Given the description of an element on the screen output the (x, y) to click on. 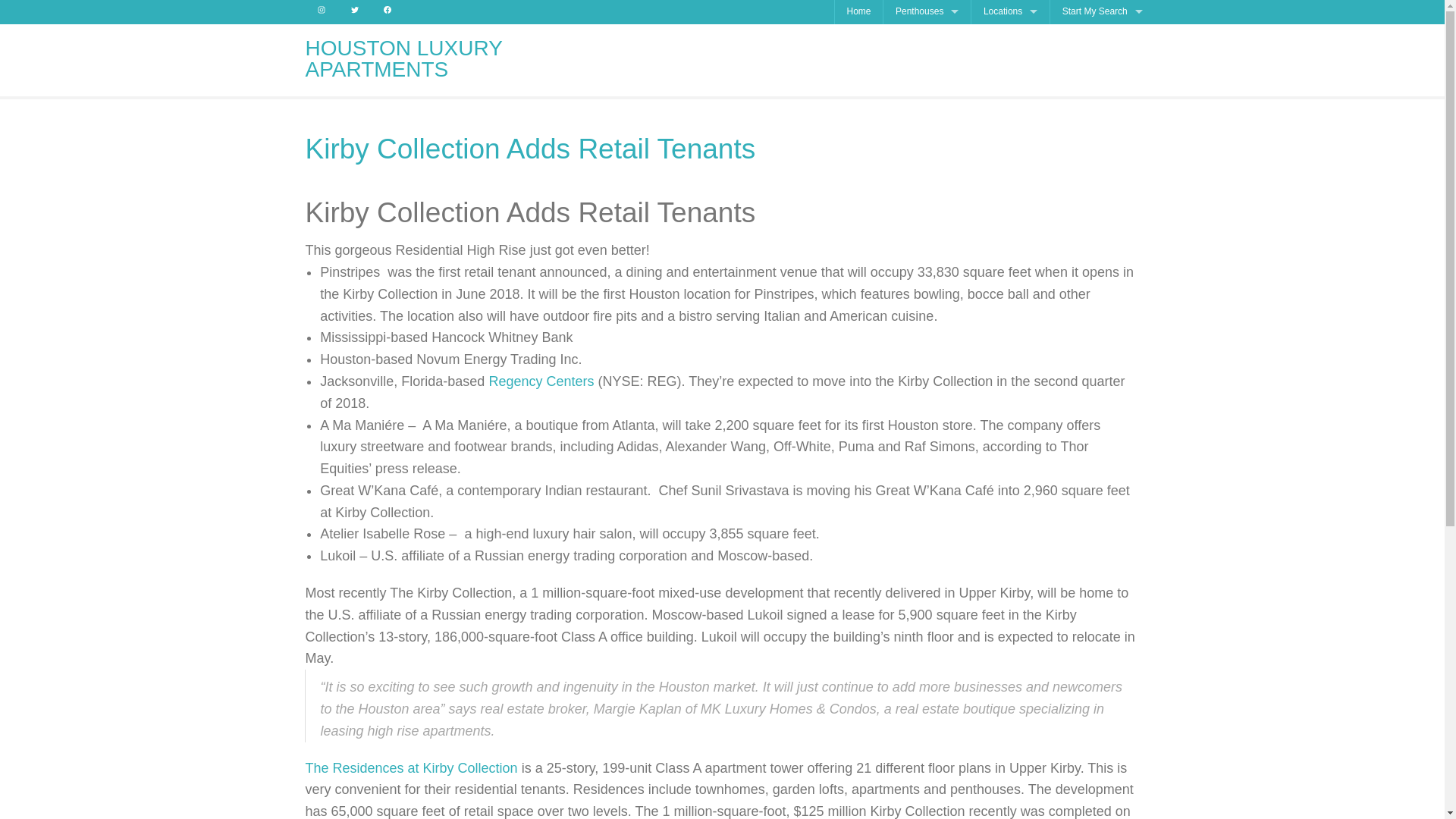
Instagram (320, 12)
Download My App (1101, 59)
Kirby Collection Adds Retail Tenants (529, 148)
Send Me Apartment Specials (1101, 36)
The Westin Penthouses (927, 155)
The Residences at Kirby Collection (410, 767)
Museum Tower Penthouse (927, 131)
Twitter (354, 12)
